Given the description of an element on the screen output the (x, y) to click on. 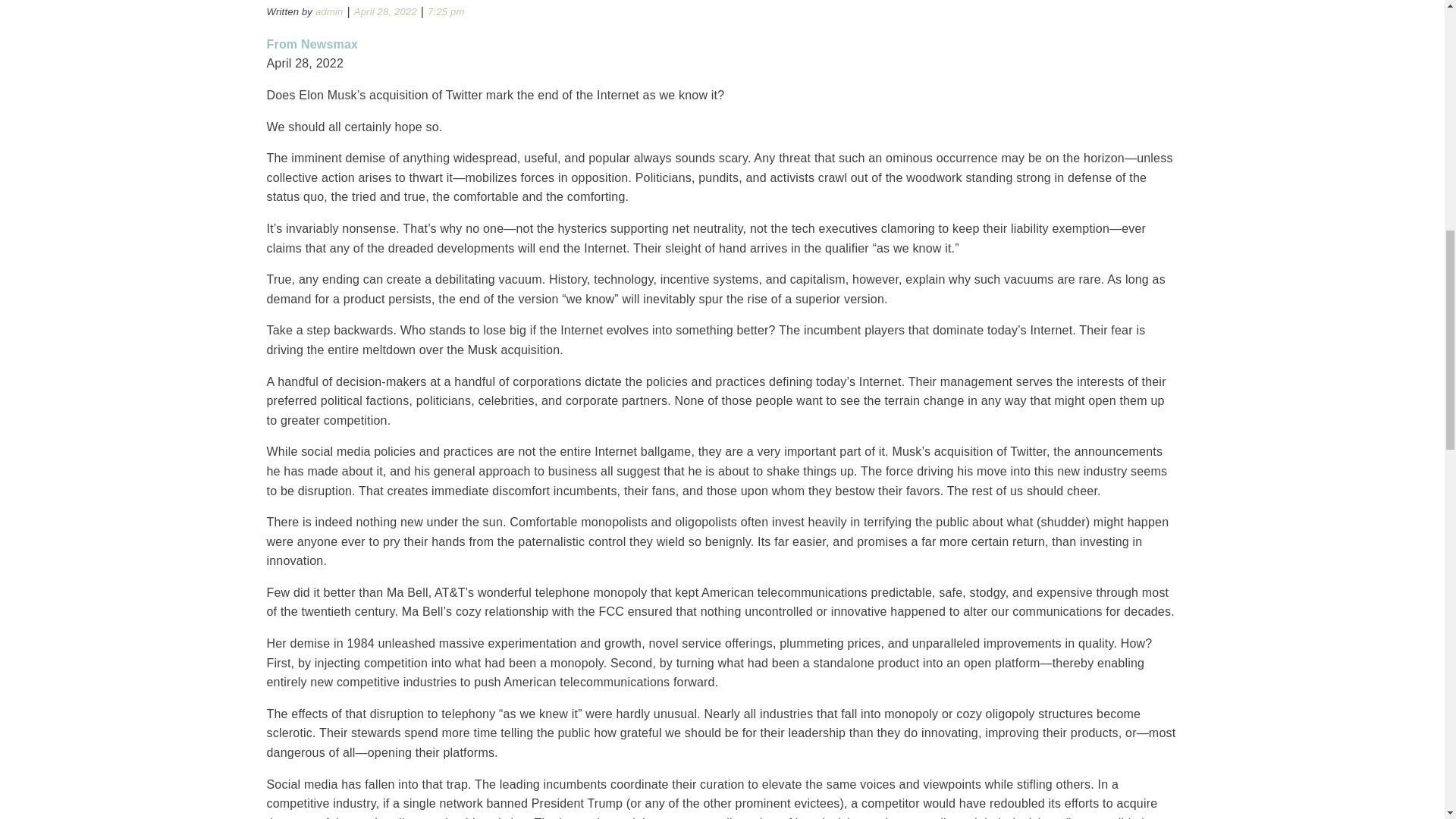
7:25 pm (446, 11)
From Newsmax (312, 43)
April 28, 2022 (384, 11)
admin (328, 11)
